Given the description of an element on the screen output the (x, y) to click on. 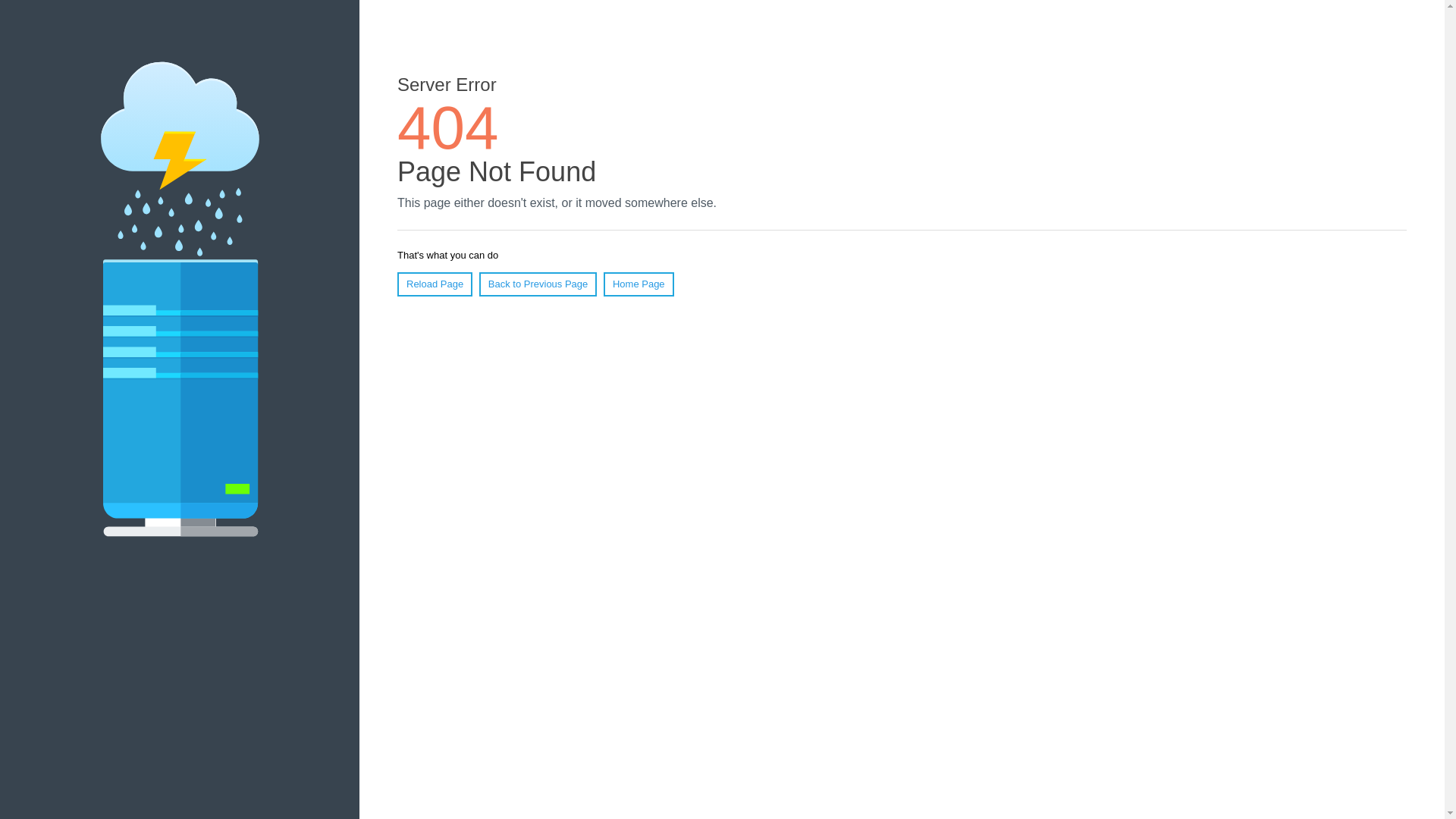
Back to Previous Page Element type: text (538, 284)
Reload Page Element type: text (434, 284)
Home Page Element type: text (638, 284)
